Given the description of an element on the screen output the (x, y) to click on. 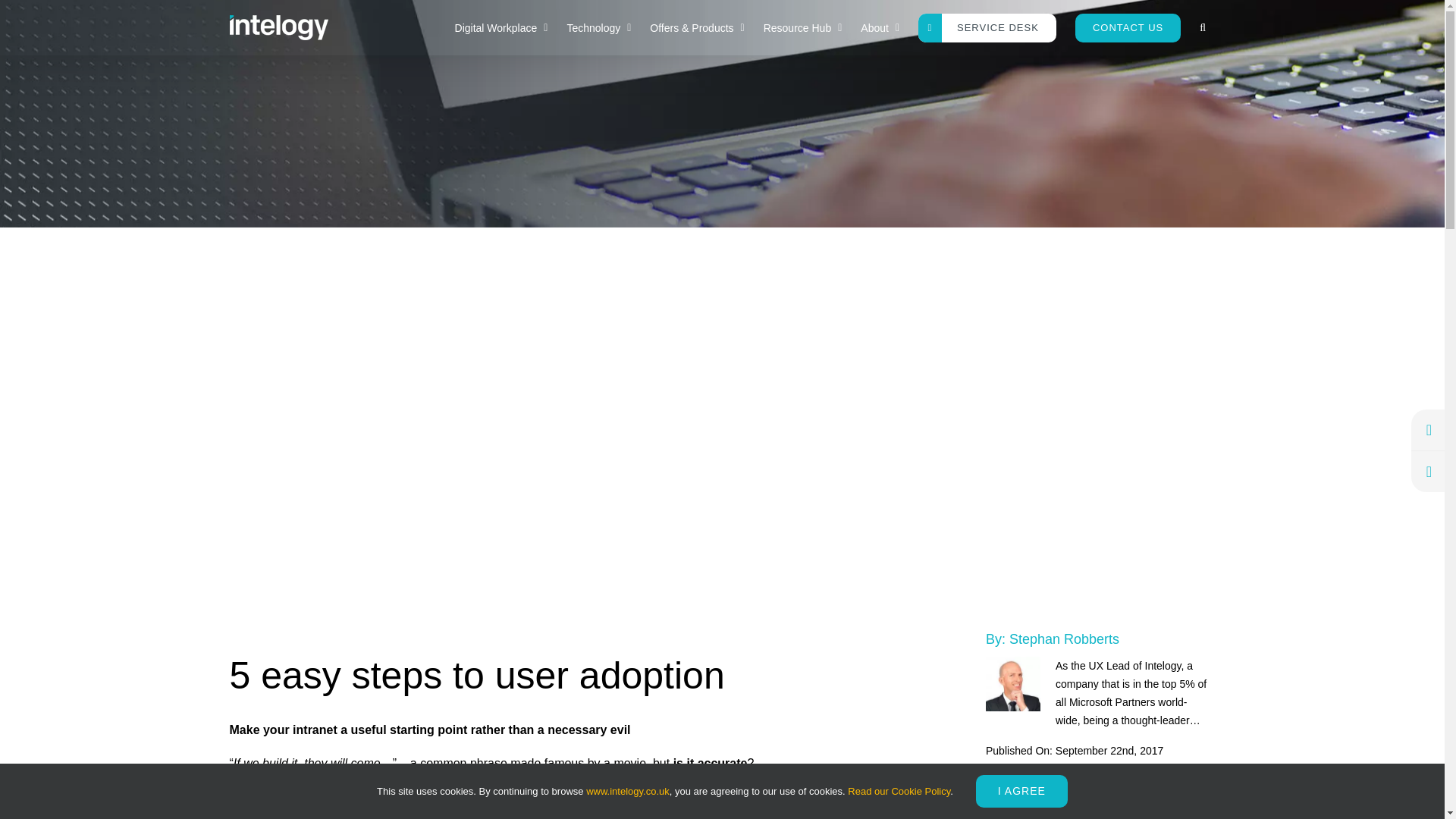
Resource Hub (802, 27)
Technology (598, 27)
Digital Workplace (501, 27)
